Given the description of an element on the screen output the (x, y) to click on. 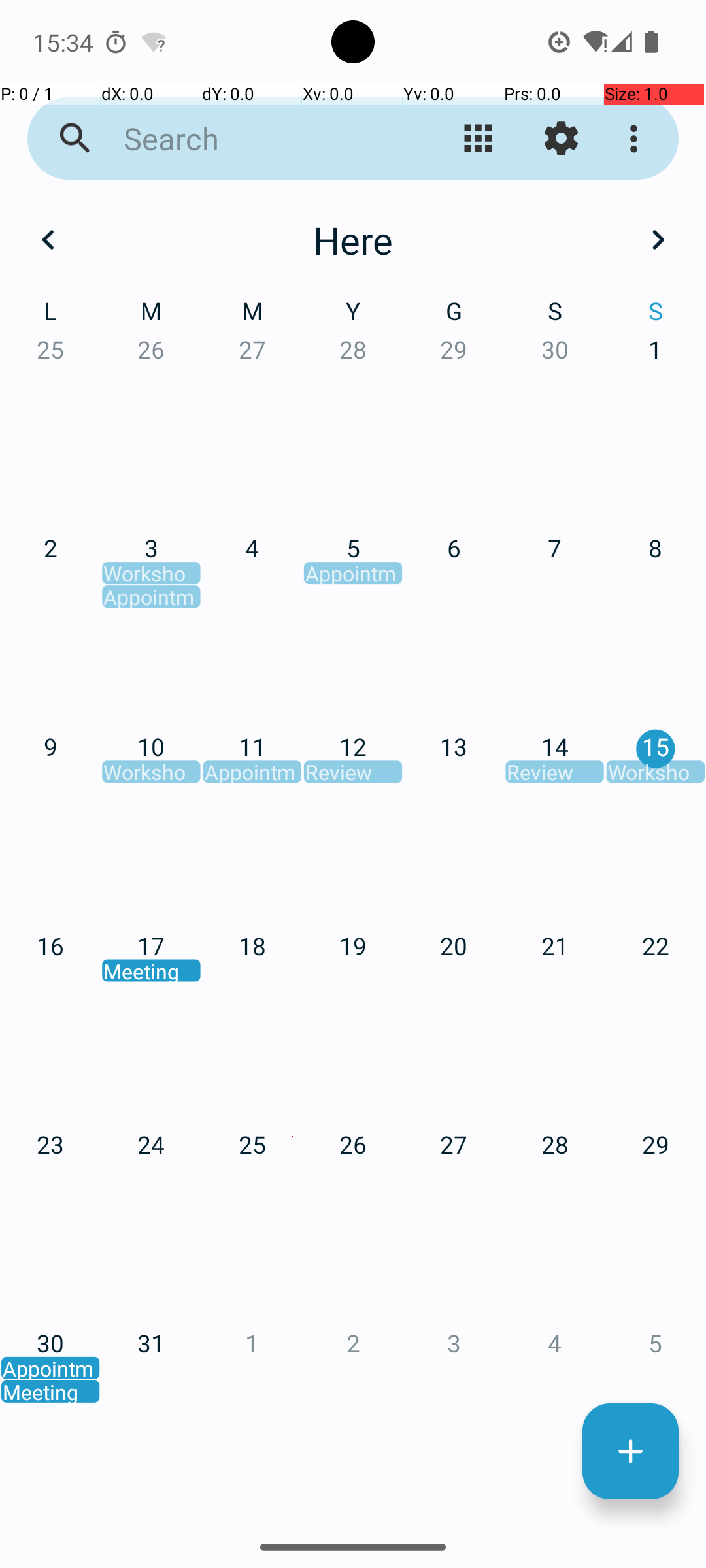
Kemmañ ar gwel Element type: android.widget.Button (477, 138)
Darvoud nevez Element type: android.widget.ImageButton (630, 1451)
Here Element type: android.widget.TextView (352, 239)
